Given the description of an element on the screen output the (x, y) to click on. 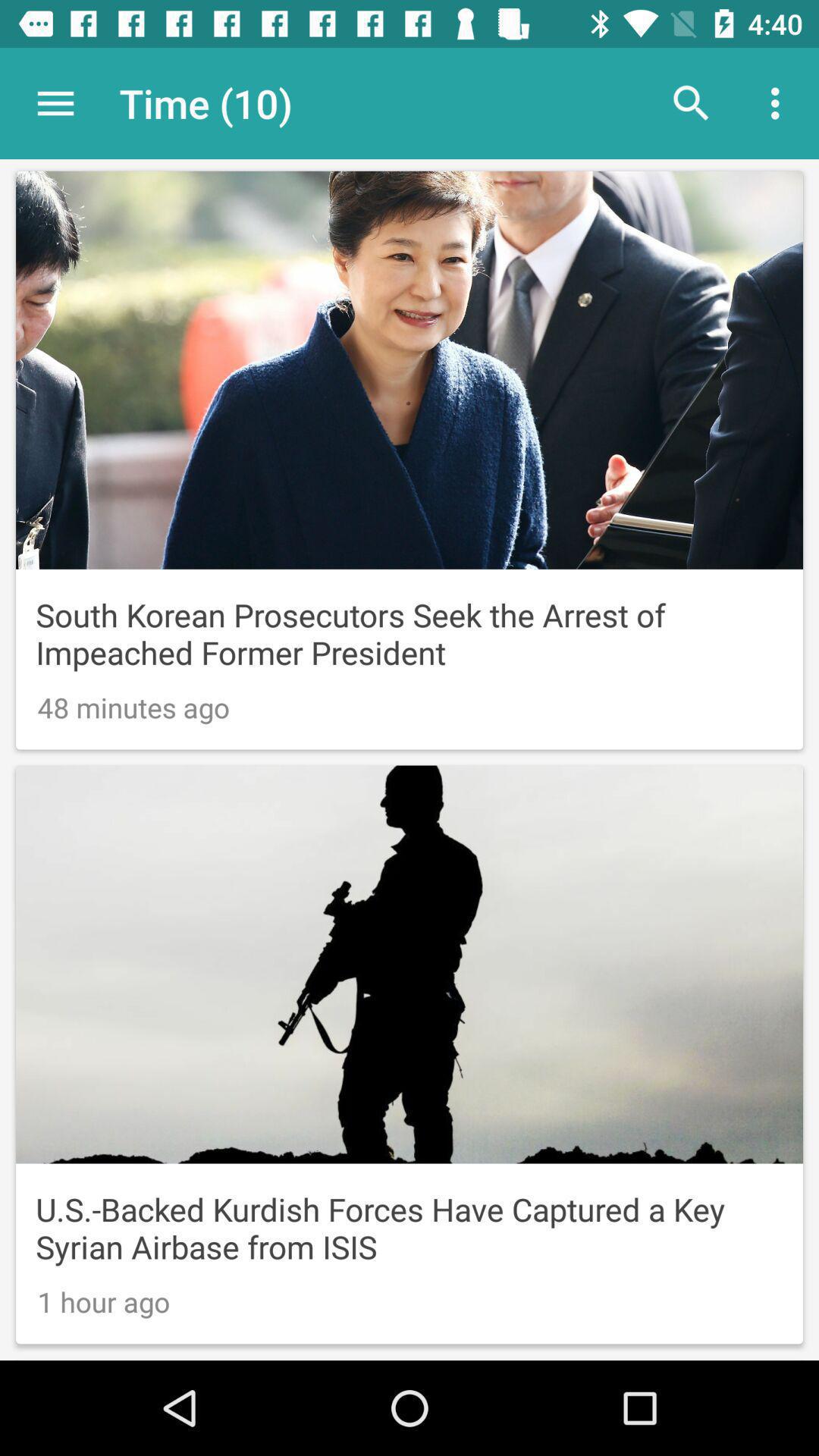
select the first image along with text just below the text time (409, 460)
click on the image in which the text says usbacked kurdish forces have captured a key syrian airbase from isis (409, 1054)
